Given the description of an element on the screen output the (x, y) to click on. 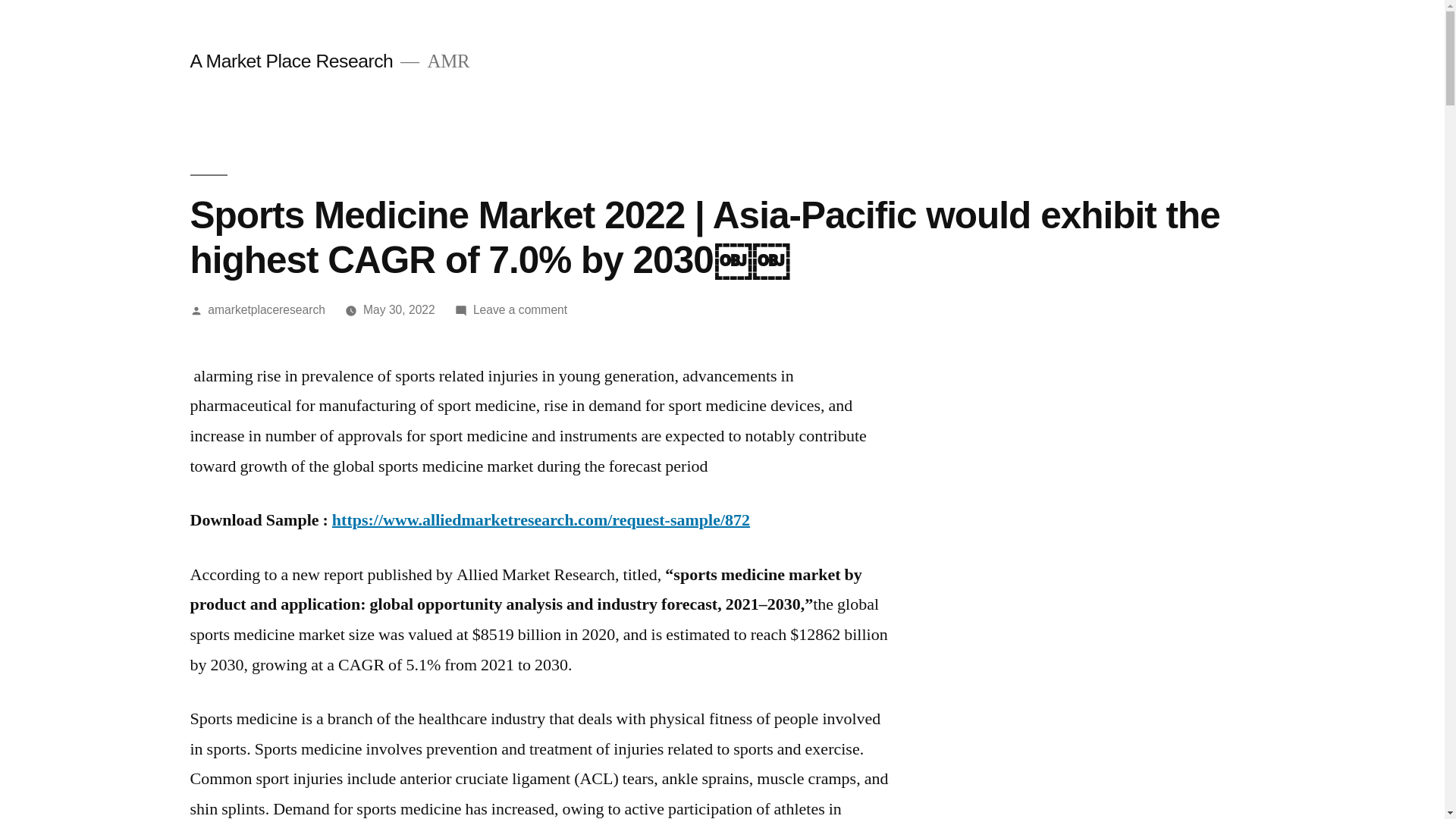
amarketplaceresearch (266, 309)
A Market Place Research (291, 60)
May 30, 2022 (398, 309)
